Given the description of an element on the screen output the (x, y) to click on. 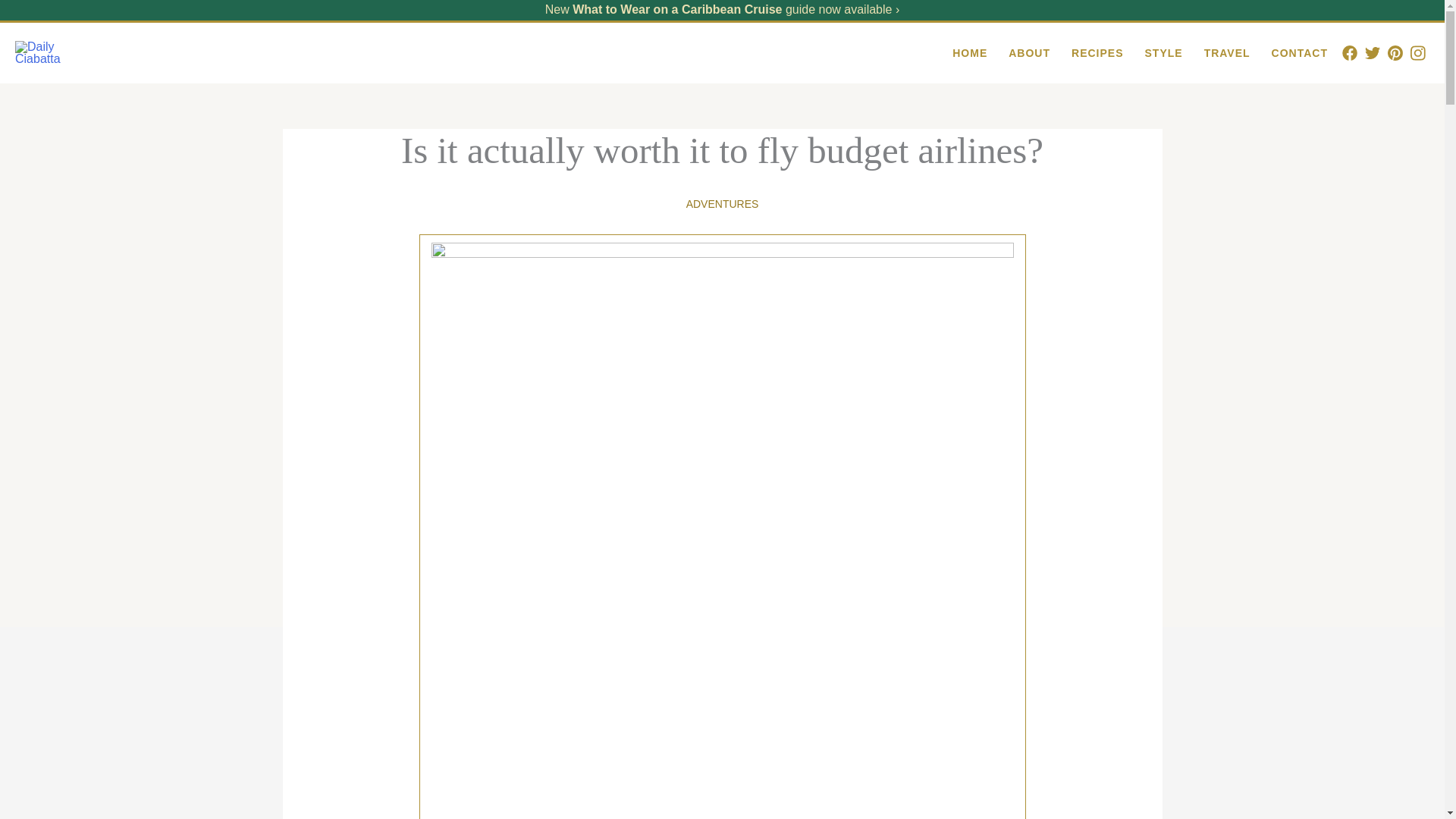
CONTACT (1299, 52)
HOME (969, 52)
STYLE (1163, 52)
ADVENTURES (721, 203)
RECIPES (1097, 52)
TRAVEL (1226, 52)
ABOUT (1029, 52)
